Given the description of an element on the screen output the (x, y) to click on. 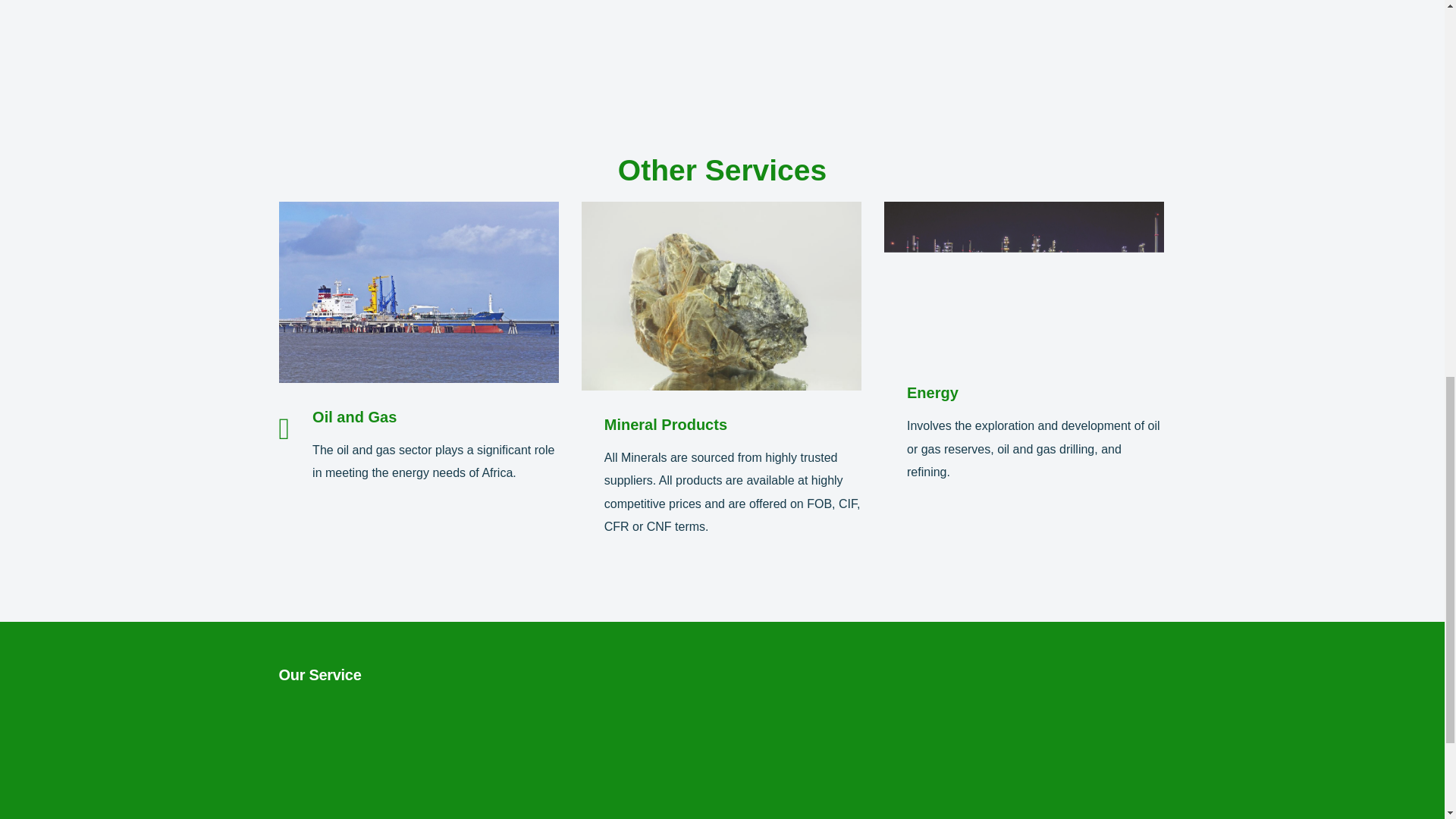
Oil and Gas (354, 416)
About (304, 741)
Blog (300, 816)
Home (304, 714)
Services (311, 797)
Team (310, 771)
Energy (932, 392)
Mineral Products (665, 424)
